Given the description of an element on the screen output the (x, y) to click on. 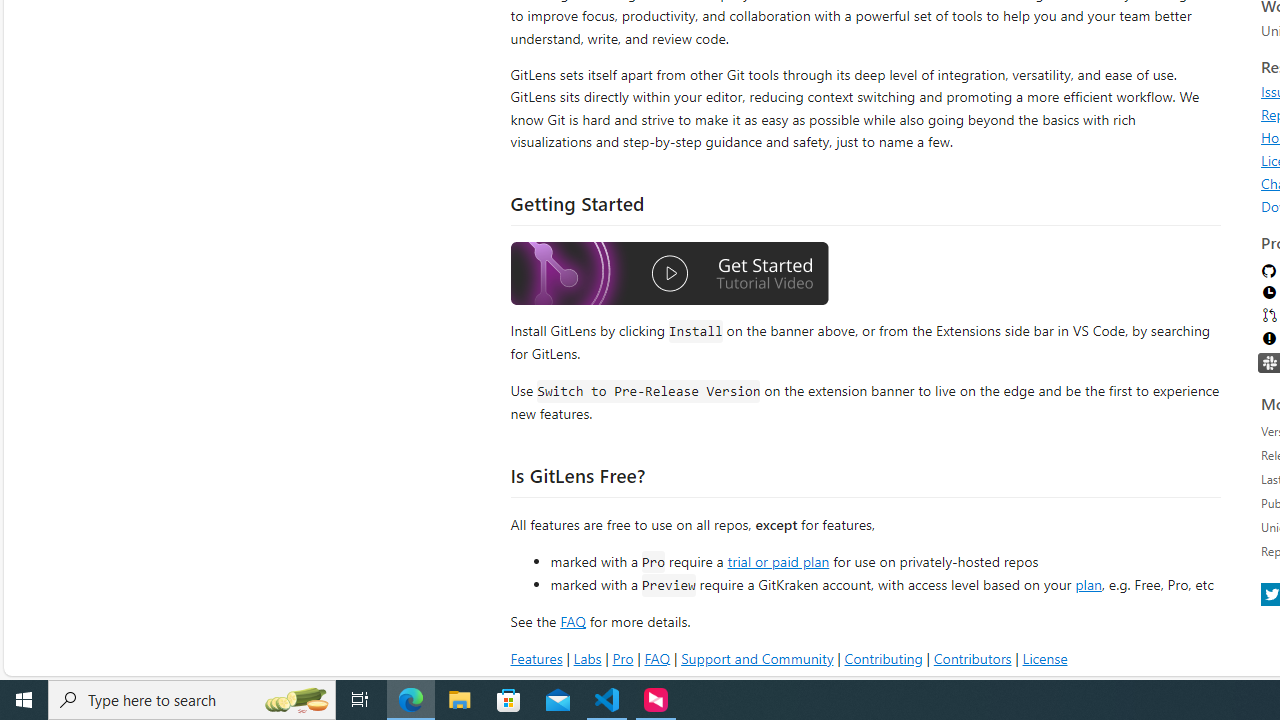
Contributors (972, 658)
Features (536, 658)
Support and Community (757, 658)
trial or paid plan (778, 560)
Labs (587, 658)
FAQ (656, 658)
Pro (622, 658)
Watch the GitLens Getting Started video (669, 276)
plan (1088, 584)
Watch the GitLens Getting Started video (669, 273)
License (1044, 658)
Contributing (882, 658)
